Given the description of an element on the screen output the (x, y) to click on. 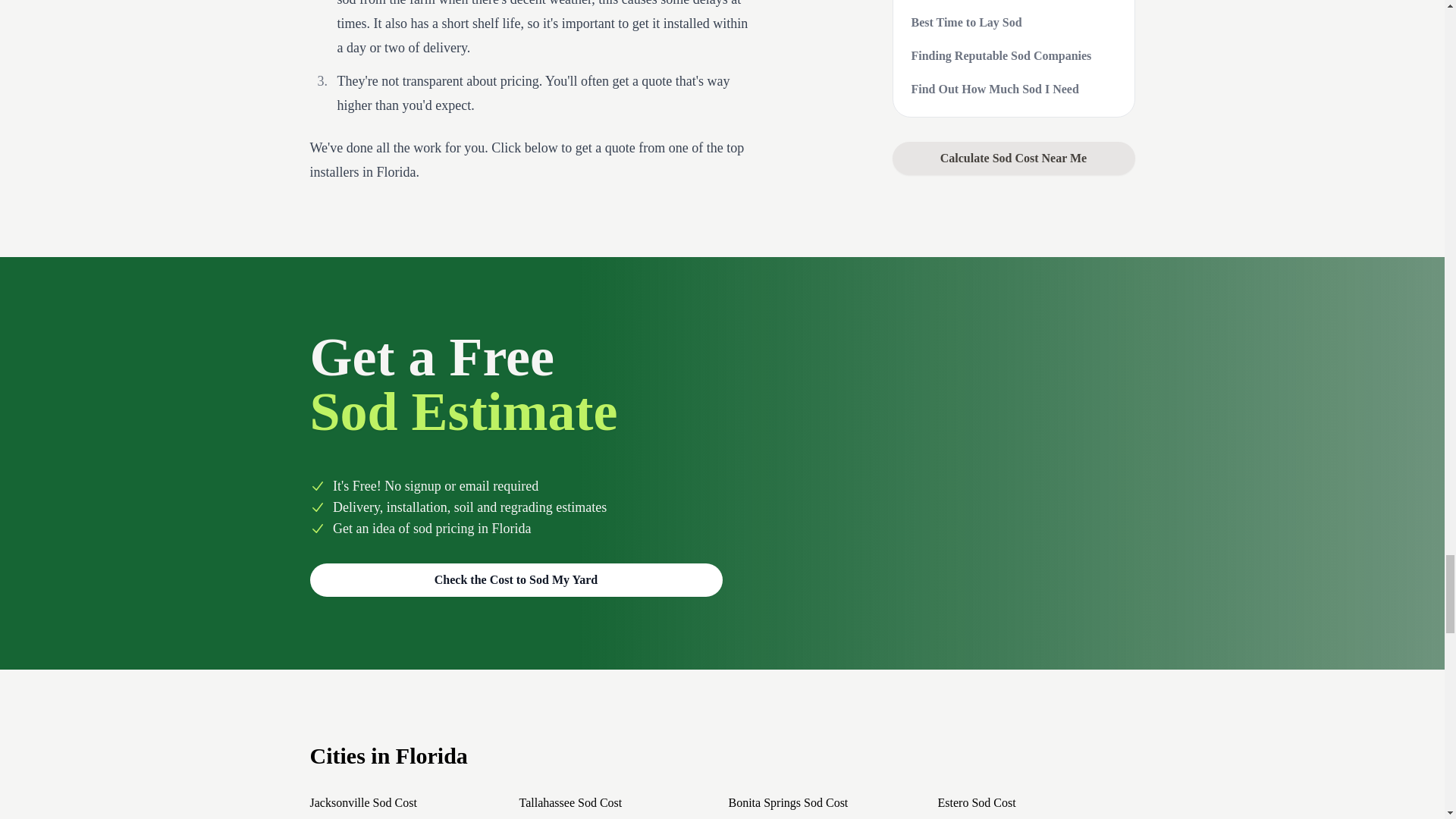
Tallahassee Sod Cost (569, 802)
Bonita Springs Sod Cost (787, 802)
Check the Cost to Sod My Yard (515, 580)
Estero Sod Cost (975, 802)
Jacksonville Sod Cost (362, 802)
